Given the description of an element on the screen output the (x, y) to click on. 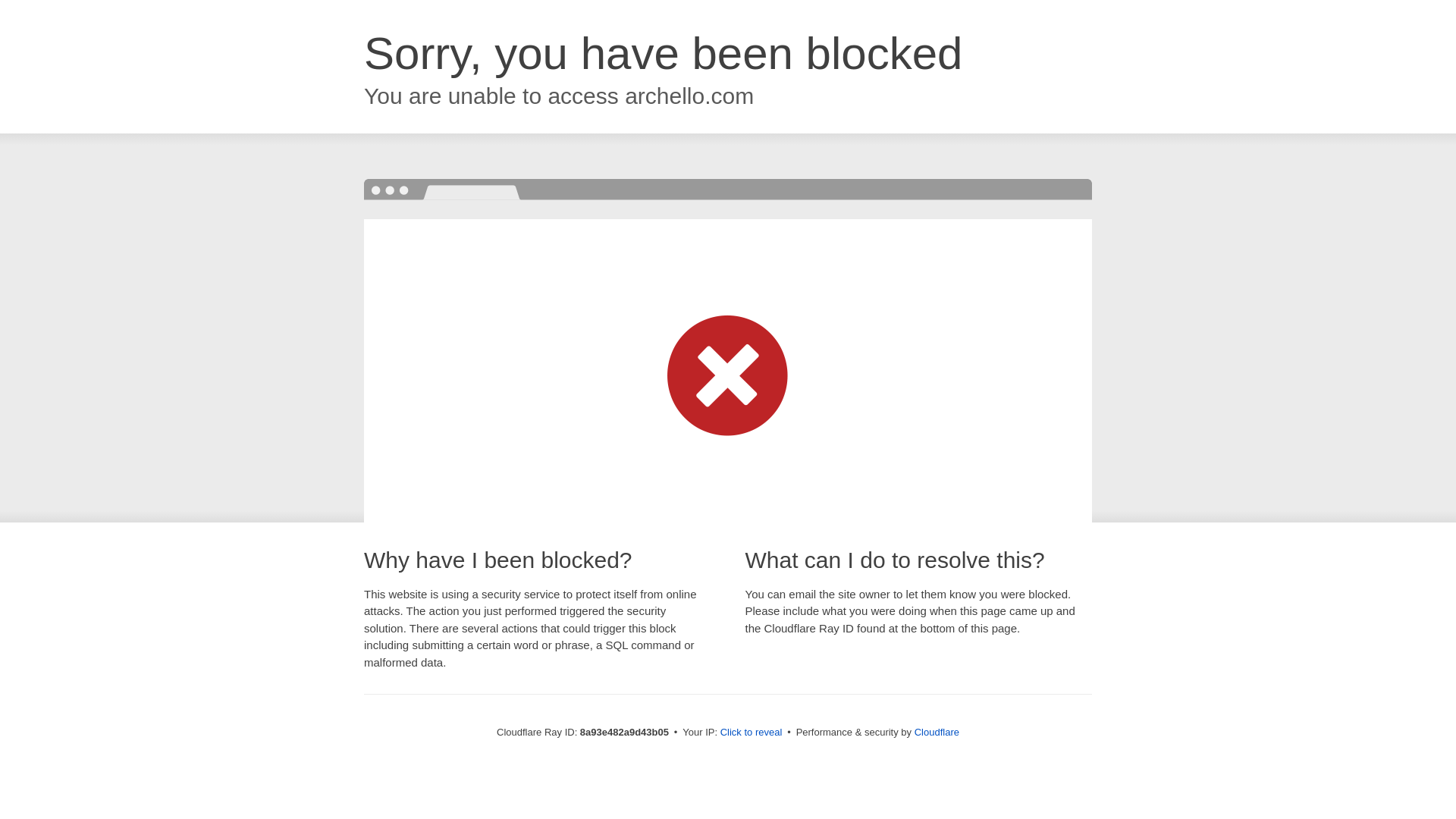
Click to reveal (751, 732)
Cloudflare (936, 731)
